Given the description of an element on the screen output the (x, y) to click on. 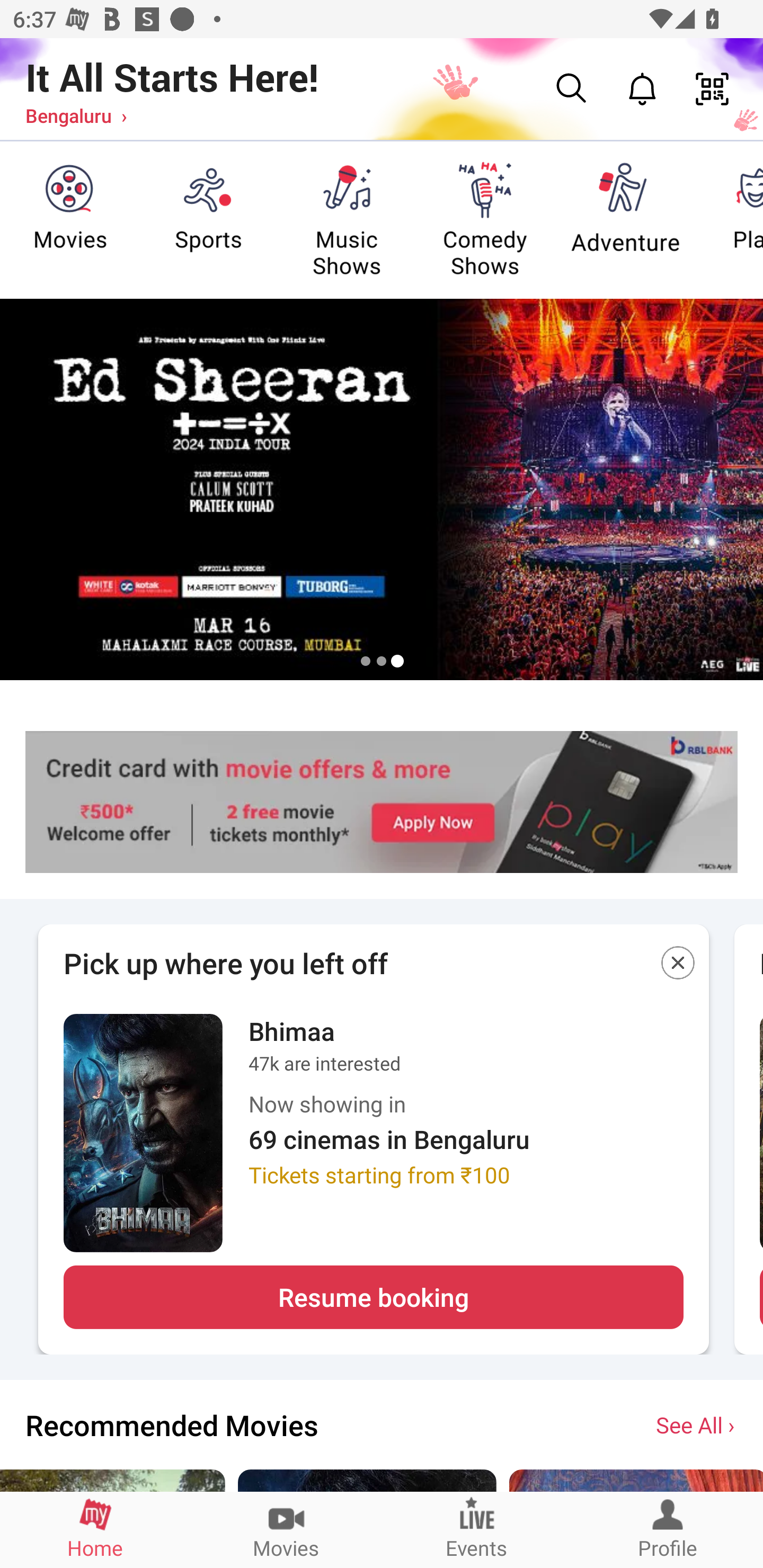
Bengaluru  › (76, 114)
  (678, 966)
Resume booking (373, 1297)
See All › (696, 1424)
Home (95, 1529)
Movies (285, 1529)
Events (476, 1529)
Profile (667, 1529)
